Given the description of an element on the screen output the (x, y) to click on. 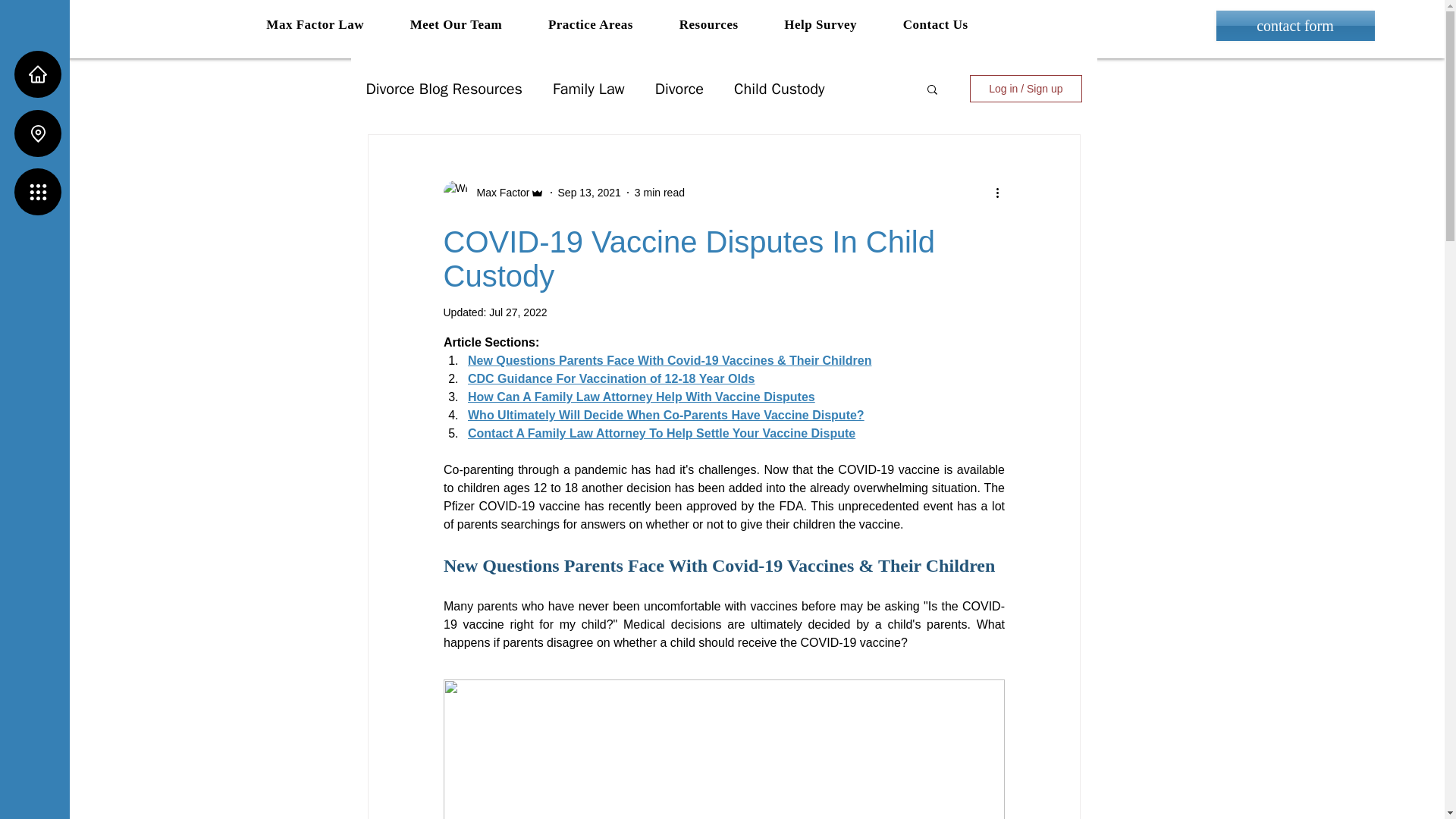
Max Factor (498, 192)
3 min read (659, 192)
Practice Areas (590, 24)
Family Law (588, 88)
Meet Our Team (455, 24)
Max Factor Law (315, 24)
Contact Us (935, 24)
Child Custody (778, 88)
Resources (708, 24)
Sep 13, 2021 (589, 192)
